Given the description of an element on the screen output the (x, y) to click on. 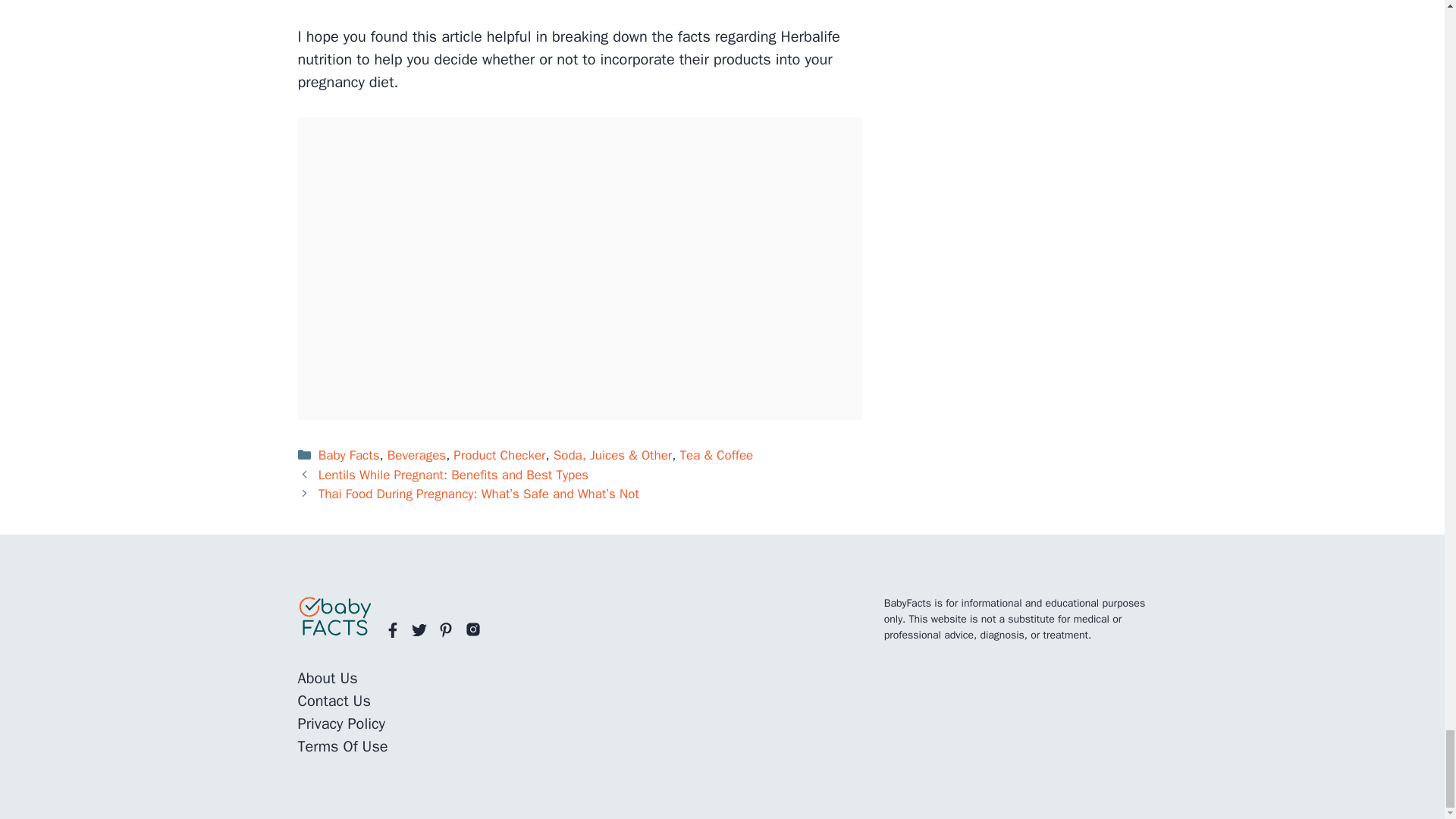
BabyFacts footer logo (334, 616)
